Given the description of an element on the screen output the (x, y) to click on. 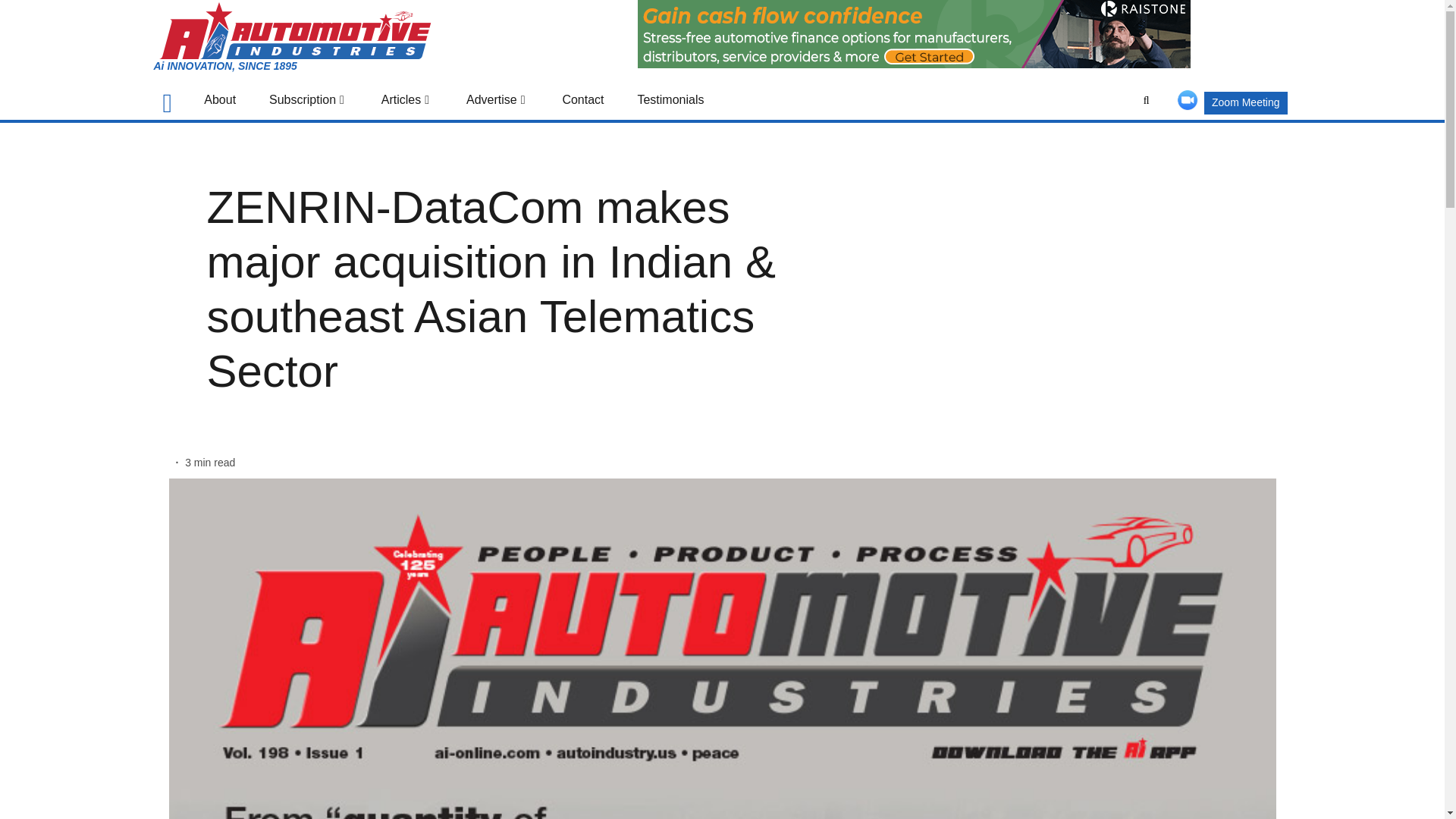
Articles (406, 99)
About (219, 99)
Subscription (308, 99)
